Given the description of an element on the screen output the (x, y) to click on. 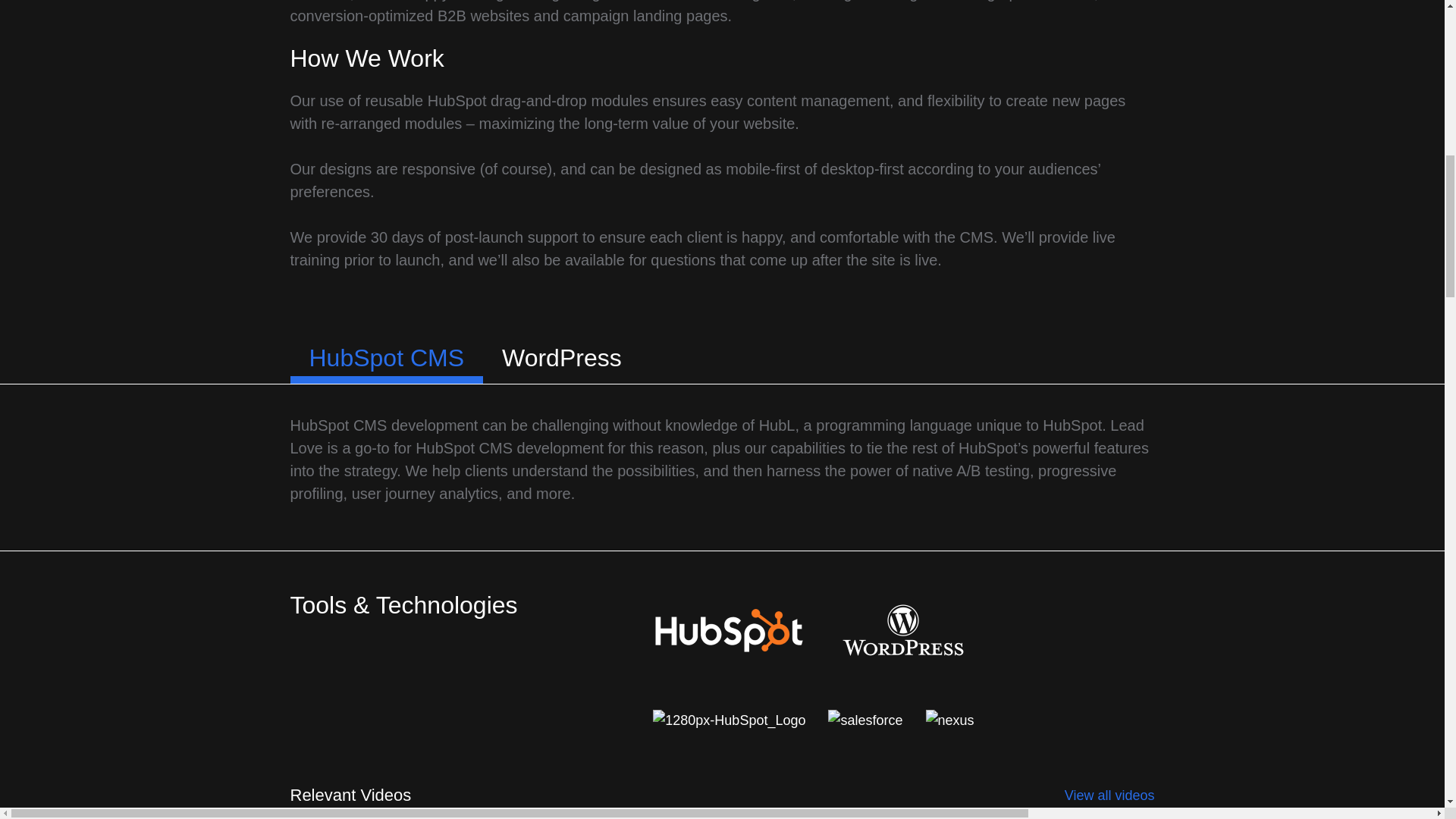
View all videos (1109, 795)
nexus (950, 720)
hubspot-dark (728, 630)
wordpress-logo (902, 629)
salesforce (865, 720)
